Given the description of an element on the screen output the (x, y) to click on. 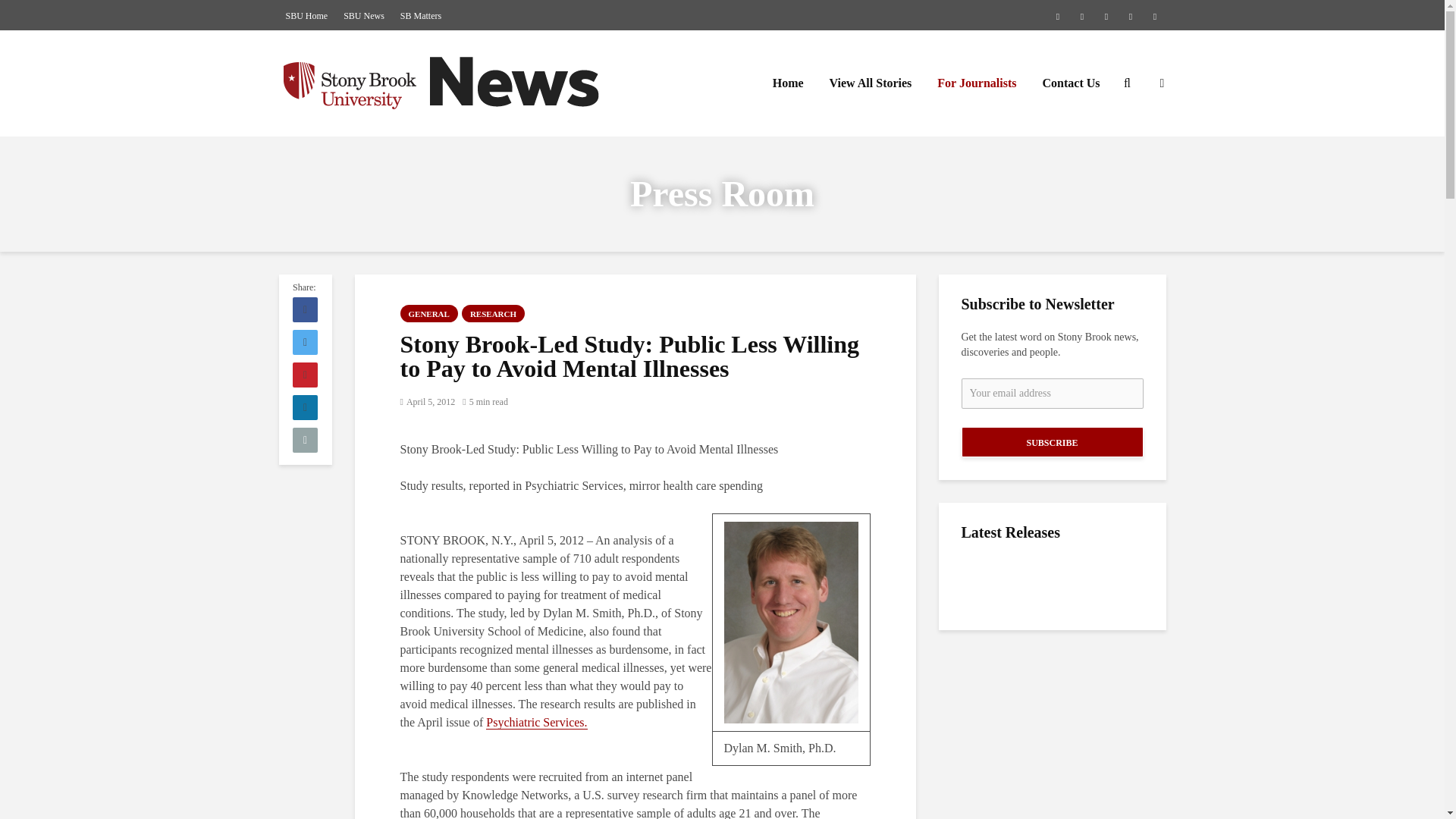
Home (788, 82)
For Journalists (976, 82)
Contact Us (1071, 82)
Subscribe (1051, 441)
SB Matters (420, 15)
SBU Home (306, 15)
View All Stories (870, 82)
SBU News (363, 15)
